Given the description of an element on the screen output the (x, y) to click on. 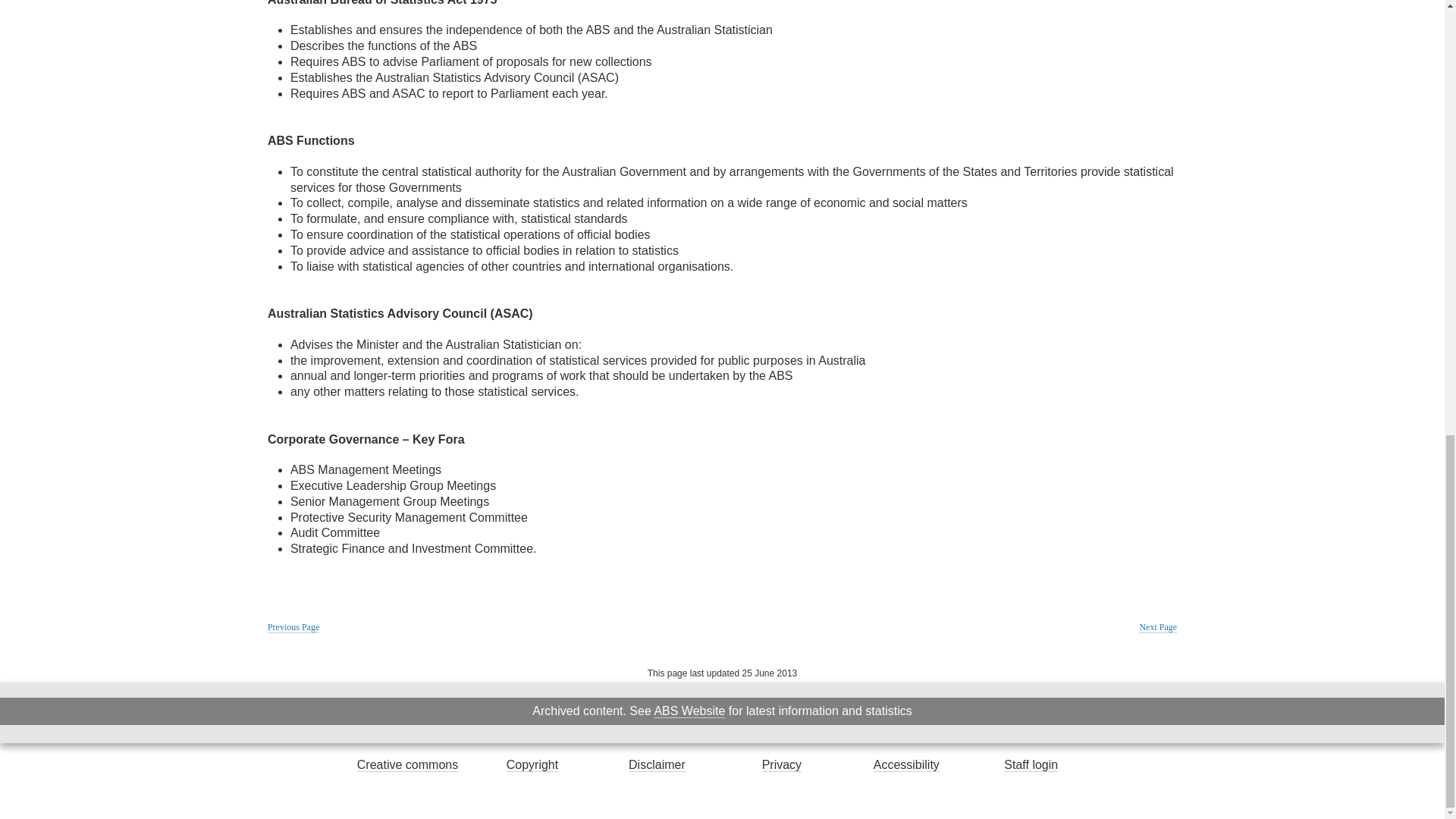
Disclaimer (656, 765)
ABS Website (689, 711)
Creative commons (407, 765)
Staff login (1031, 765)
Next Page (1157, 627)
Copyright (531, 765)
ABS Website (689, 711)
Privacy (781, 765)
Accessibility (906, 765)
Previous Page (292, 627)
